Given the description of an element on the screen output the (x, y) to click on. 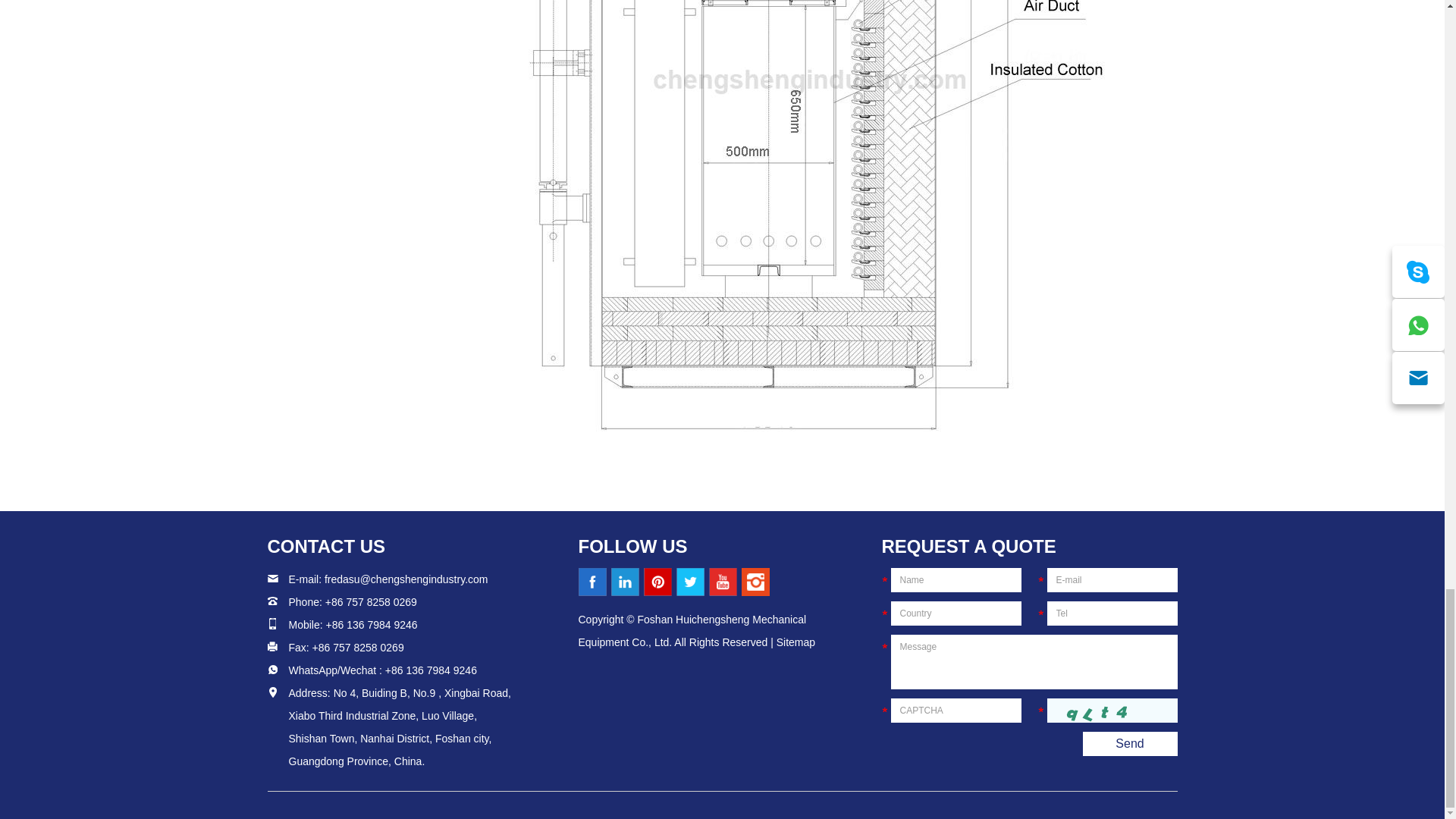
Send (1130, 743)
